Given the description of an element on the screen output the (x, y) to click on. 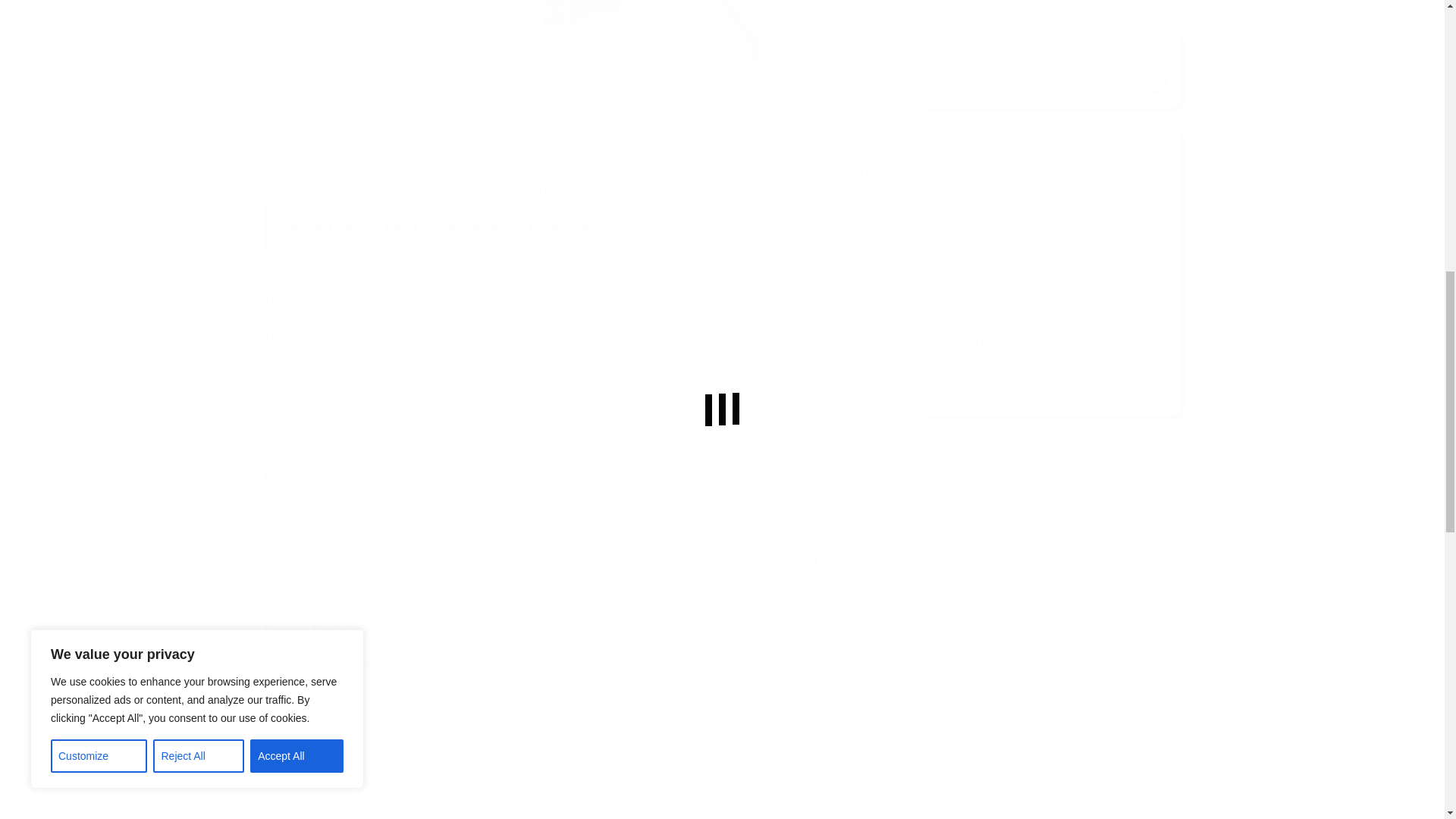
Watch Video (578, 269)
White Wooden Twin Bed House for Dolls (578, 29)
Garden (341, 477)
  How to Enhance Your Garden with Stylish Plant Stands? (579, 228)
